Given the description of an element on the screen output the (x, y) to click on. 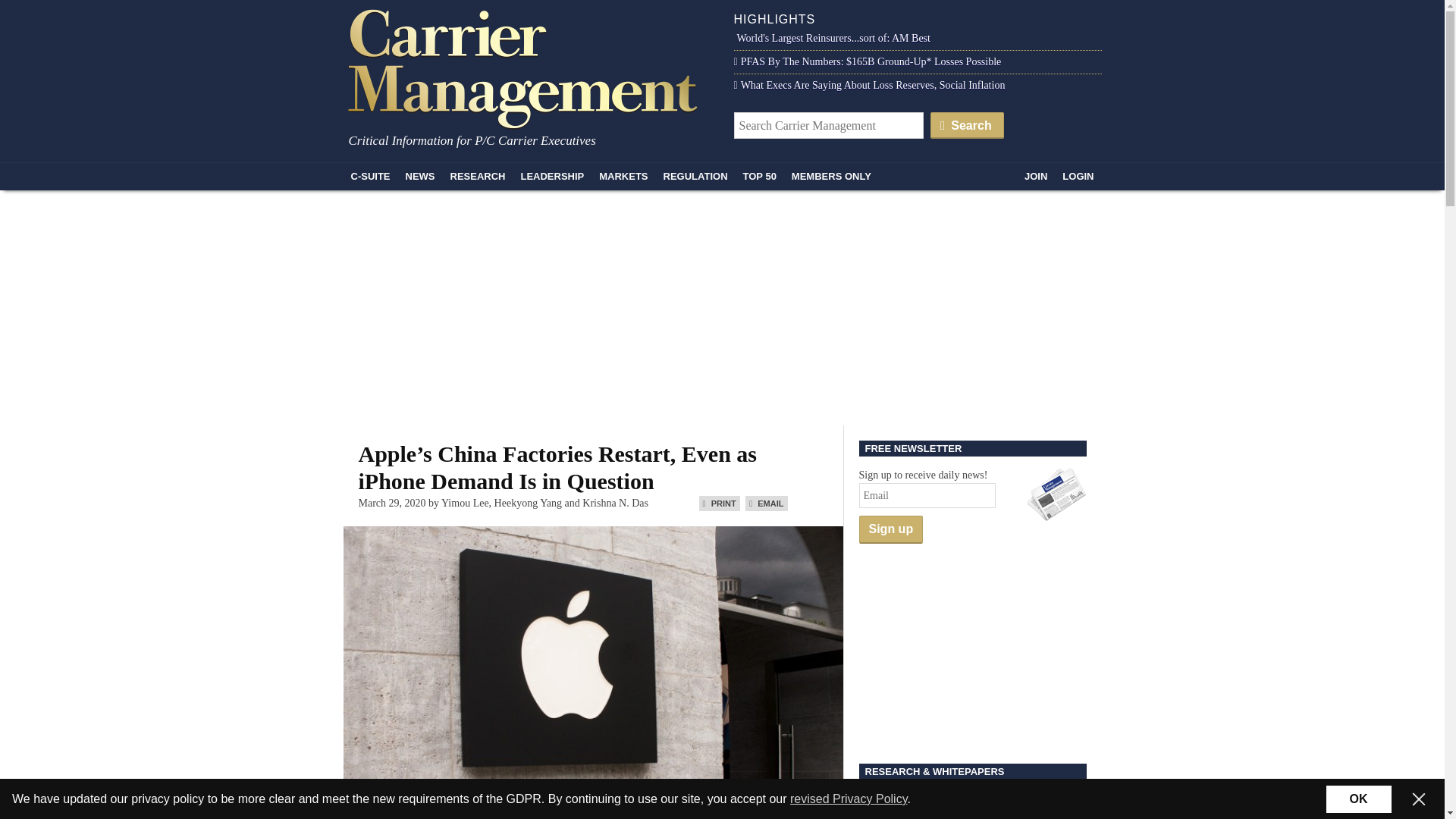
Search (967, 125)
NEWS (419, 176)
Carrier Management (527, 67)
MARKETS (623, 176)
What Execs Are Saying About Loss Reserves, Social Inflation (869, 84)
REGULATION (695, 176)
C-SUITE (369, 176)
TOP 50 (759, 176)
LOGIN (1077, 176)
JOIN (1035, 176)
